Given the description of an element on the screen output the (x, y) to click on. 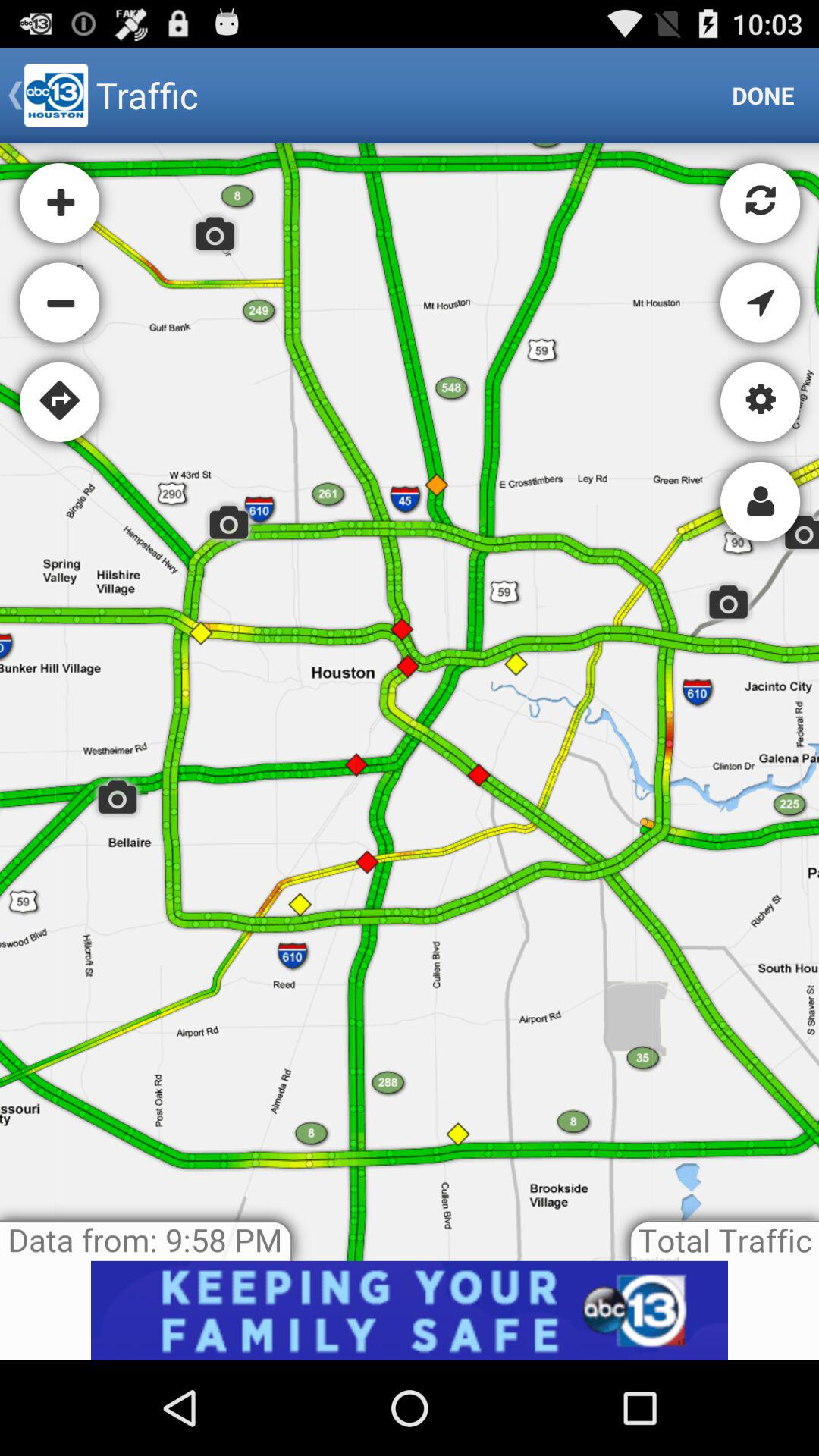
open advertisement (409, 1310)
